Given the description of an element on the screen output the (x, y) to click on. 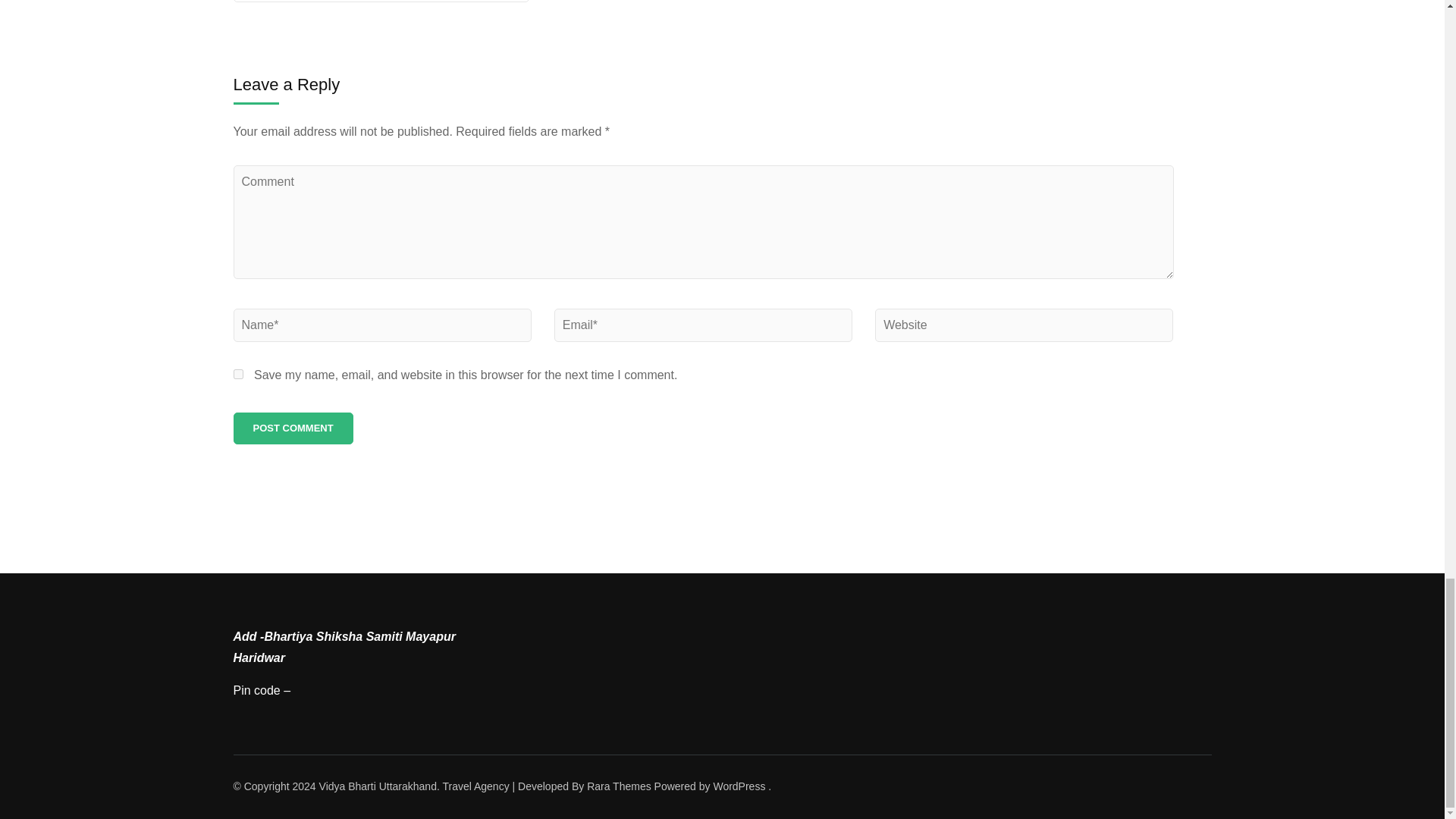
Post Comment (292, 428)
yes (237, 374)
